Given the description of an element on the screen output the (x, y) to click on. 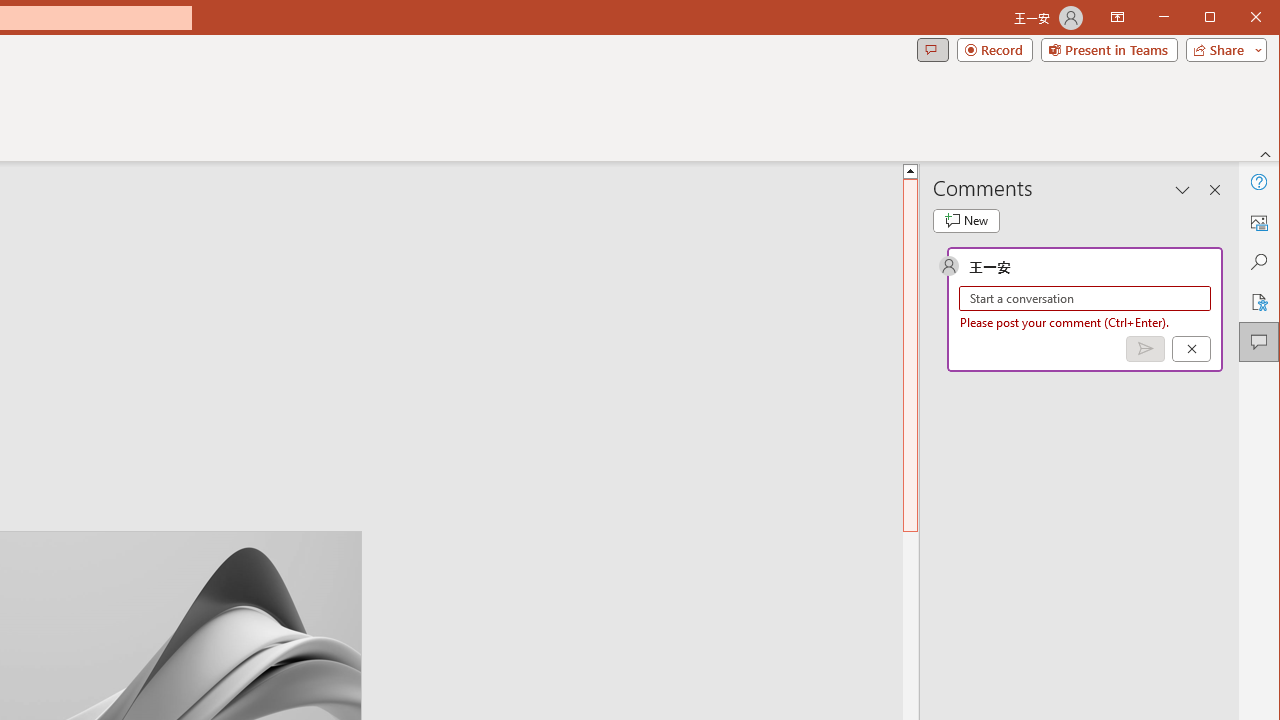
New comment (966, 220)
Start a conversation (1085, 298)
